Given the description of an element on the screen output the (x, y) to click on. 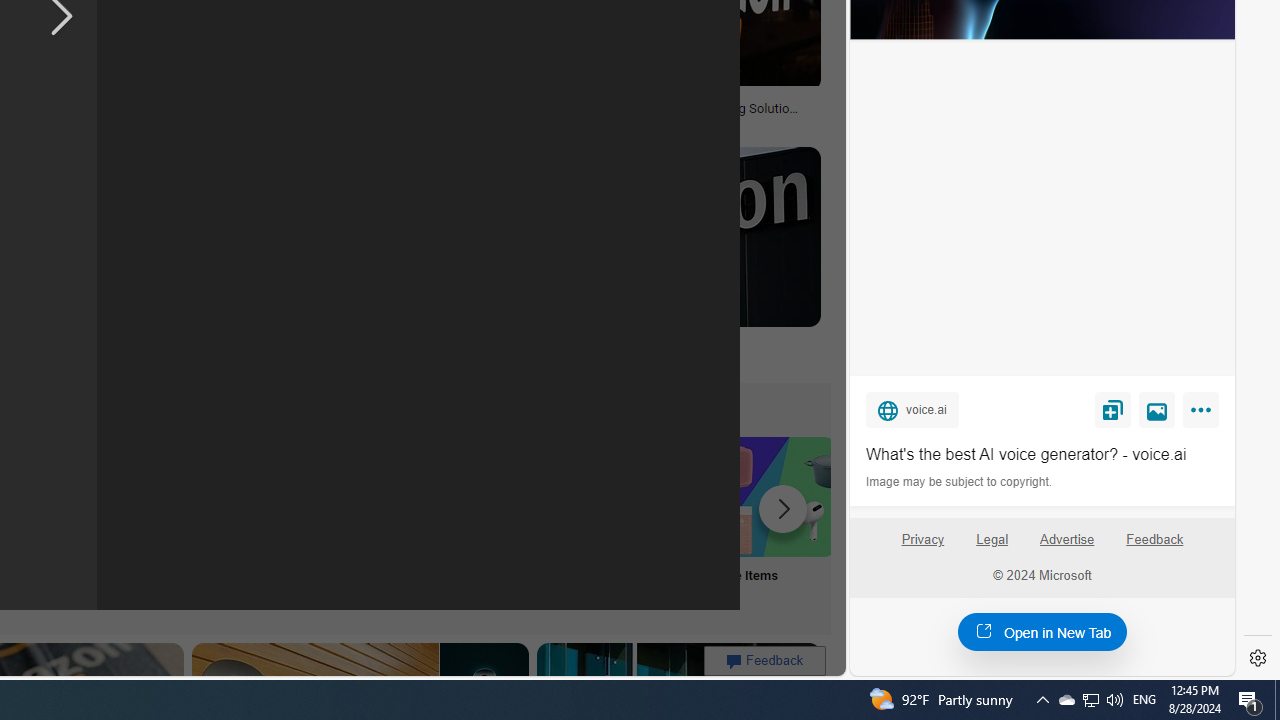
Amazon Mini TV Mini TV (116, 521)
Amazon Mini TV (116, 496)
Amazon Prime Label (511, 496)
Legal (991, 539)
Legal (992, 547)
Image may be subject to copyright. (959, 481)
Amazon Prime Shopping Online (380, 496)
cordcuttersnews.com (234, 358)
Sale Items (775, 521)
protothema.gr (554, 358)
